Given the description of an element on the screen output the (x, y) to click on. 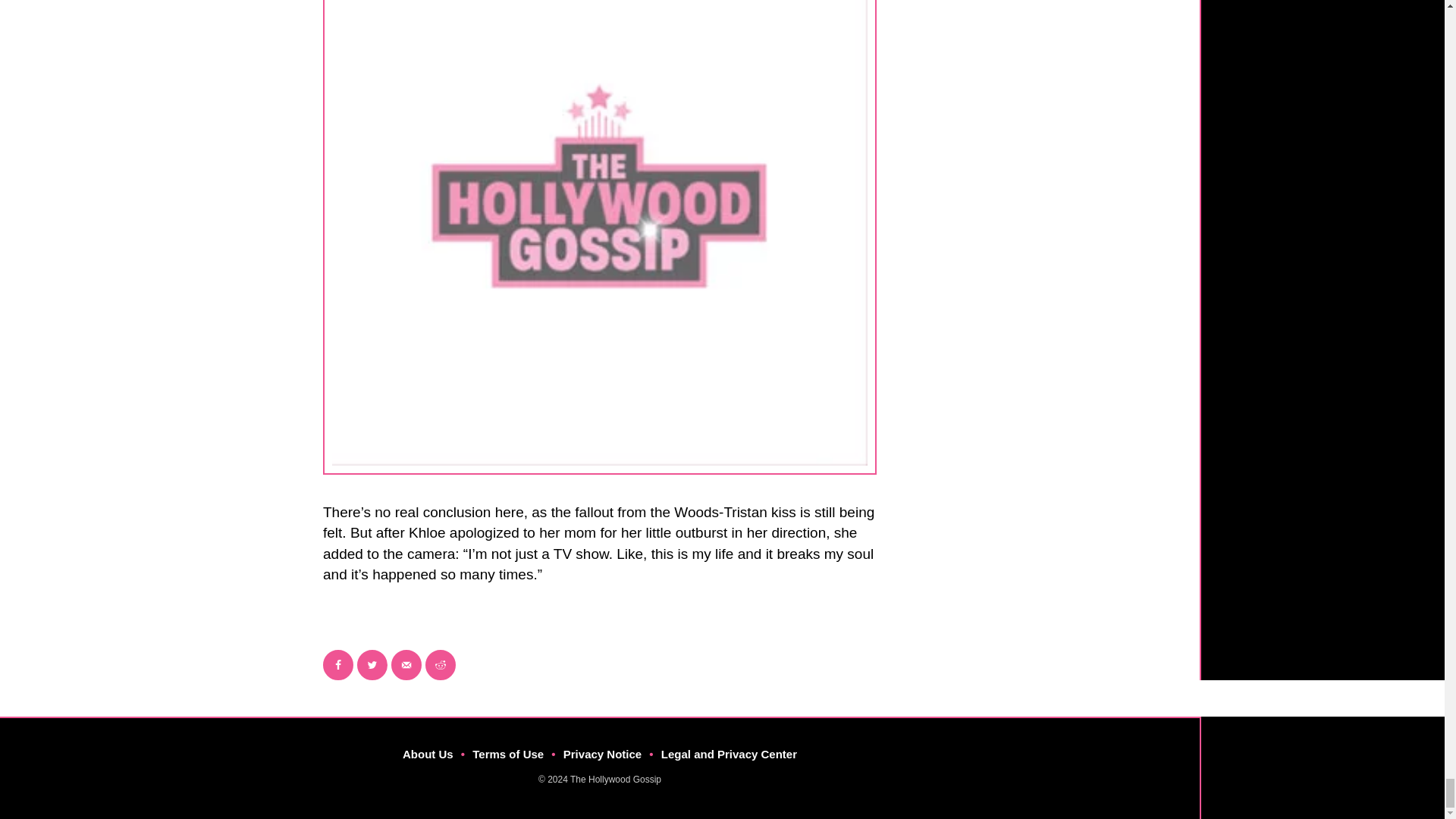
Share on Twitter (371, 665)
Share on Reddit (440, 665)
Share on Facebook (338, 665)
Send over email (406, 665)
